Given the description of an element on the screen output the (x, y) to click on. 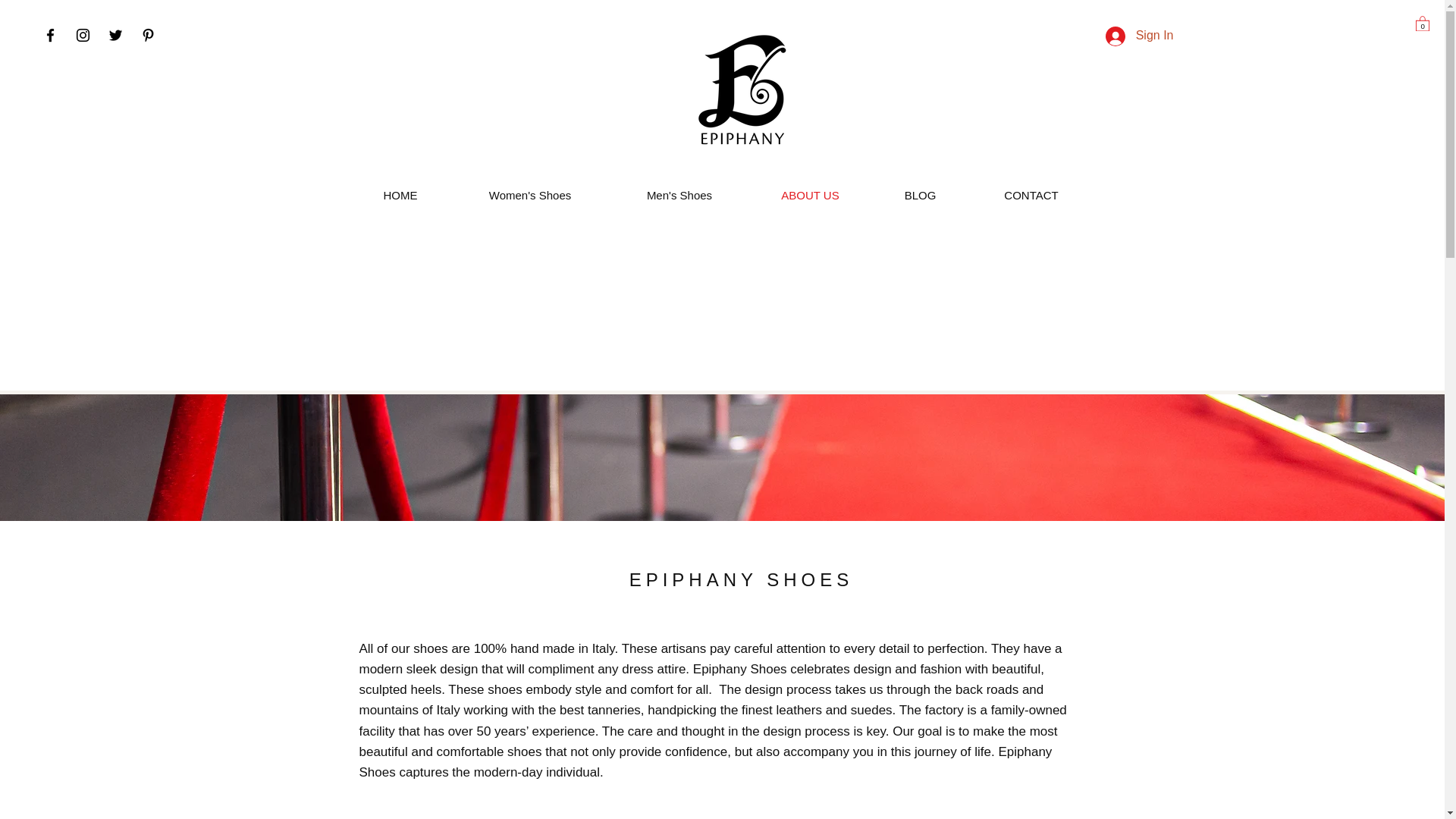
Women's Shoes (529, 195)
HOME (399, 195)
BLOG (920, 195)
CONTACT (1031, 195)
Men's Shoes (679, 195)
ABOUT US (810, 195)
Sign In (1139, 35)
